Given the description of an element on the screen output the (x, y) to click on. 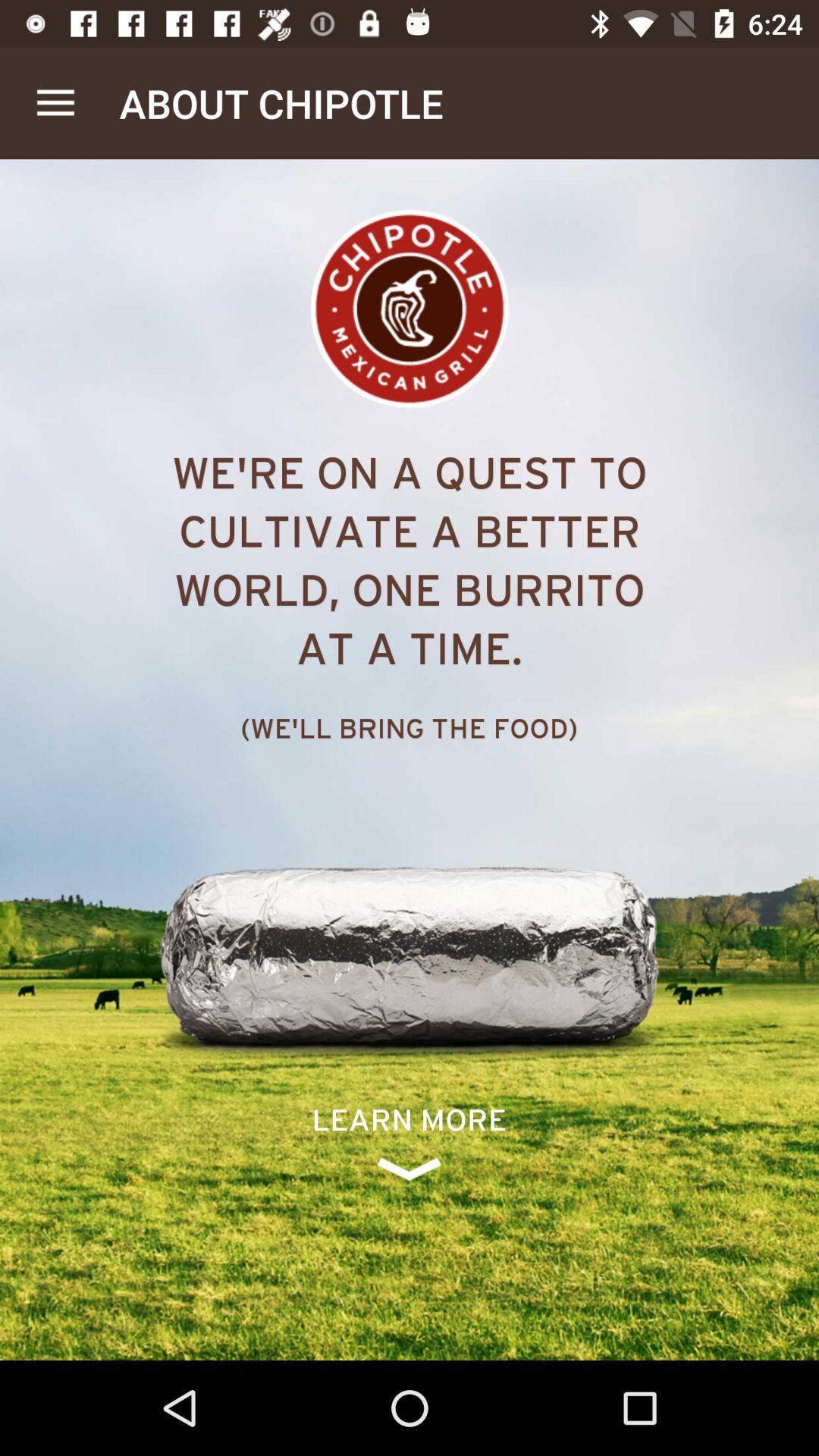
turn off the app next to the about chipotle item (55, 103)
